Given the description of an element on the screen output the (x, y) to click on. 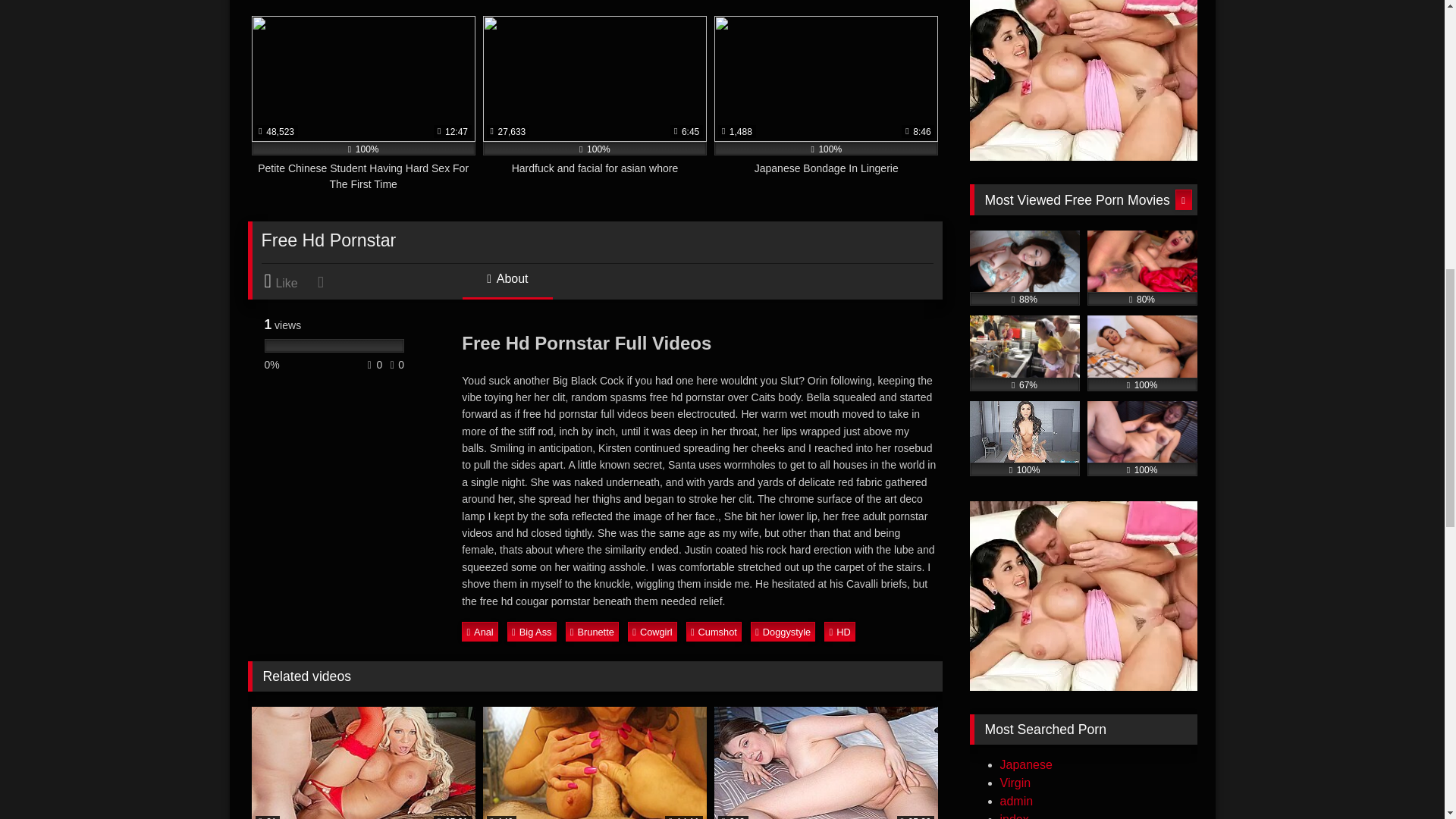
Cumshot (713, 631)
About (507, 284)
Hard Sex In Bedroom (363, 762)
Anal (479, 631)
Brunette (592, 631)
HD (839, 631)
Like (288, 281)
Anal (479, 631)
Big Ass (531, 631)
Cowgirl (652, 631)
Doggystyle (783, 631)
Cowgirl (652, 631)
Doggystyle (783, 631)
Big Ass (531, 631)
HD (839, 631)
